Given the description of an element on the screen output the (x, y) to click on. 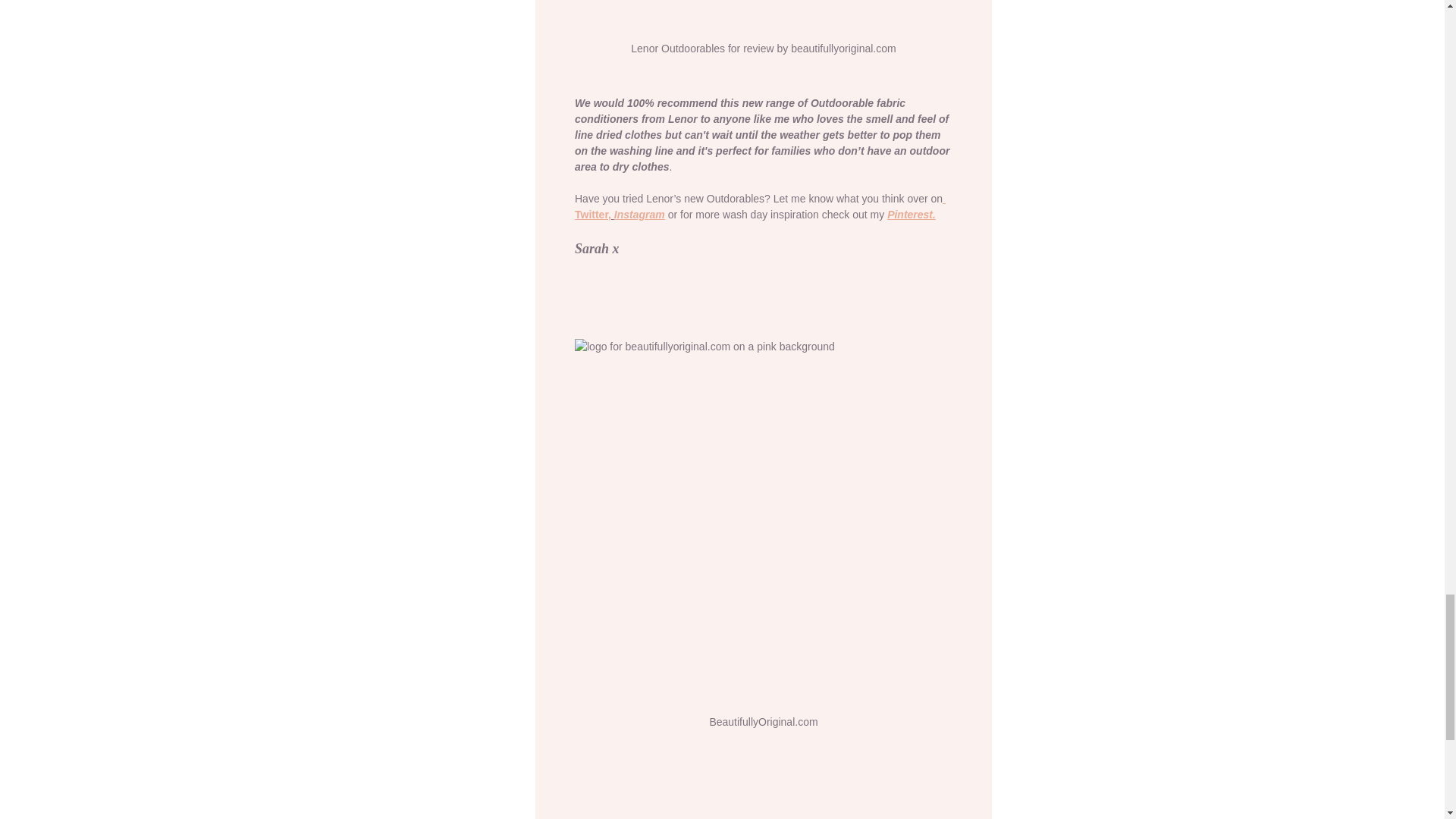
Pinterest. (911, 214)
Sarah x (597, 248)
Lenor Outdoorables for review by beautifullyoriginal.com (763, 35)
Instagram (637, 214)
 Twitter, (759, 206)
